Given the description of an element on the screen output the (x, y) to click on. 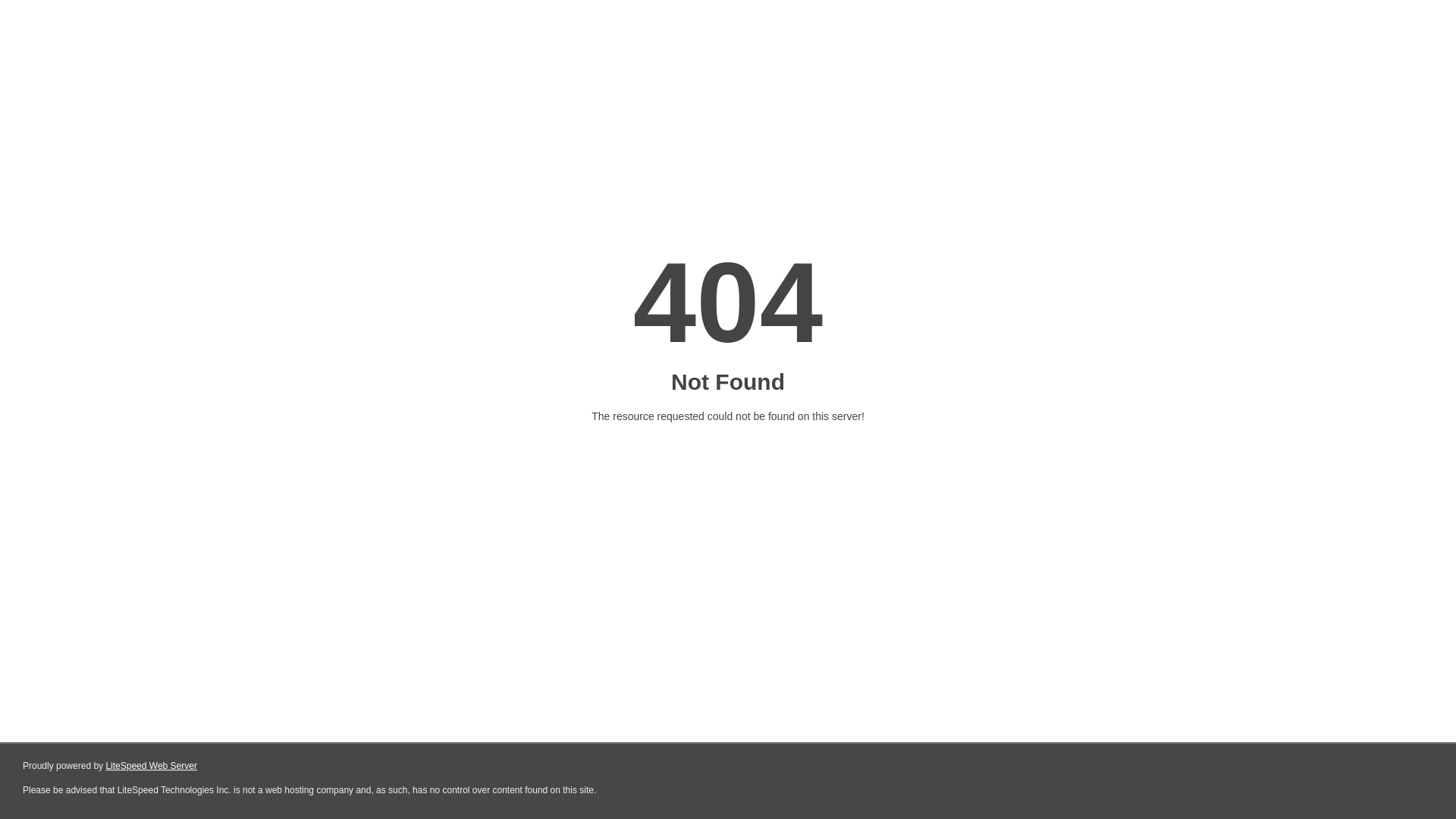
LiteSpeed Web Server Element type: text (151, 765)
